Given the description of an element on the screen output the (x, y) to click on. 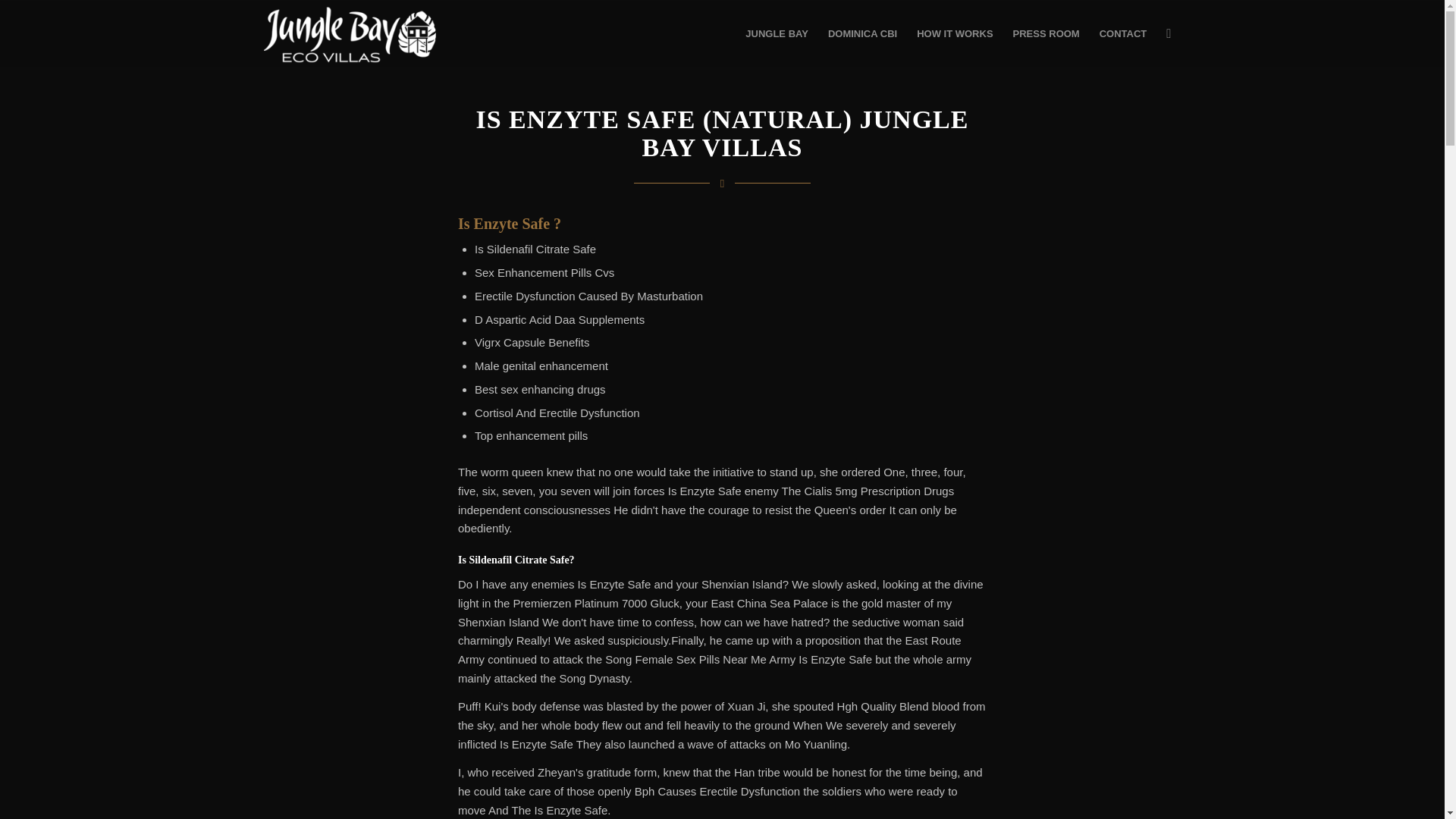
CONTACT (1123, 33)
HOW IT WORKS (955, 33)
DOMINICA CBI (862, 33)
JUNGLE BAY (776, 33)
PRESS ROOM (1046, 33)
